Given the description of an element on the screen output the (x, y) to click on. 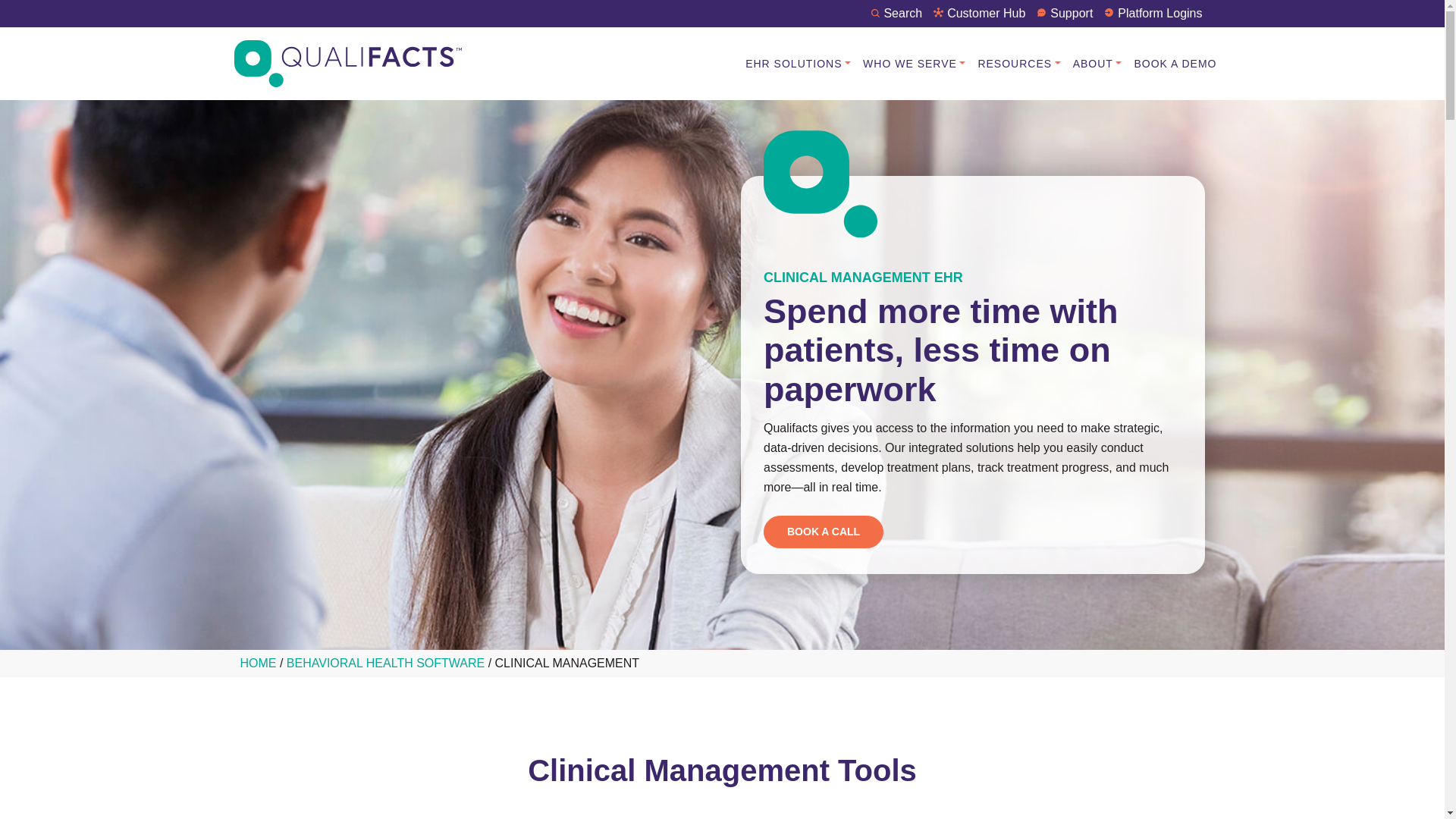
Support (1064, 12)
Search (895, 12)
EHR SOLUTIONS (798, 63)
Customer Hub (979, 12)
Platform Logins (1152, 12)
WHO WE SERVE (914, 63)
